Given the description of an element on the screen output the (x, y) to click on. 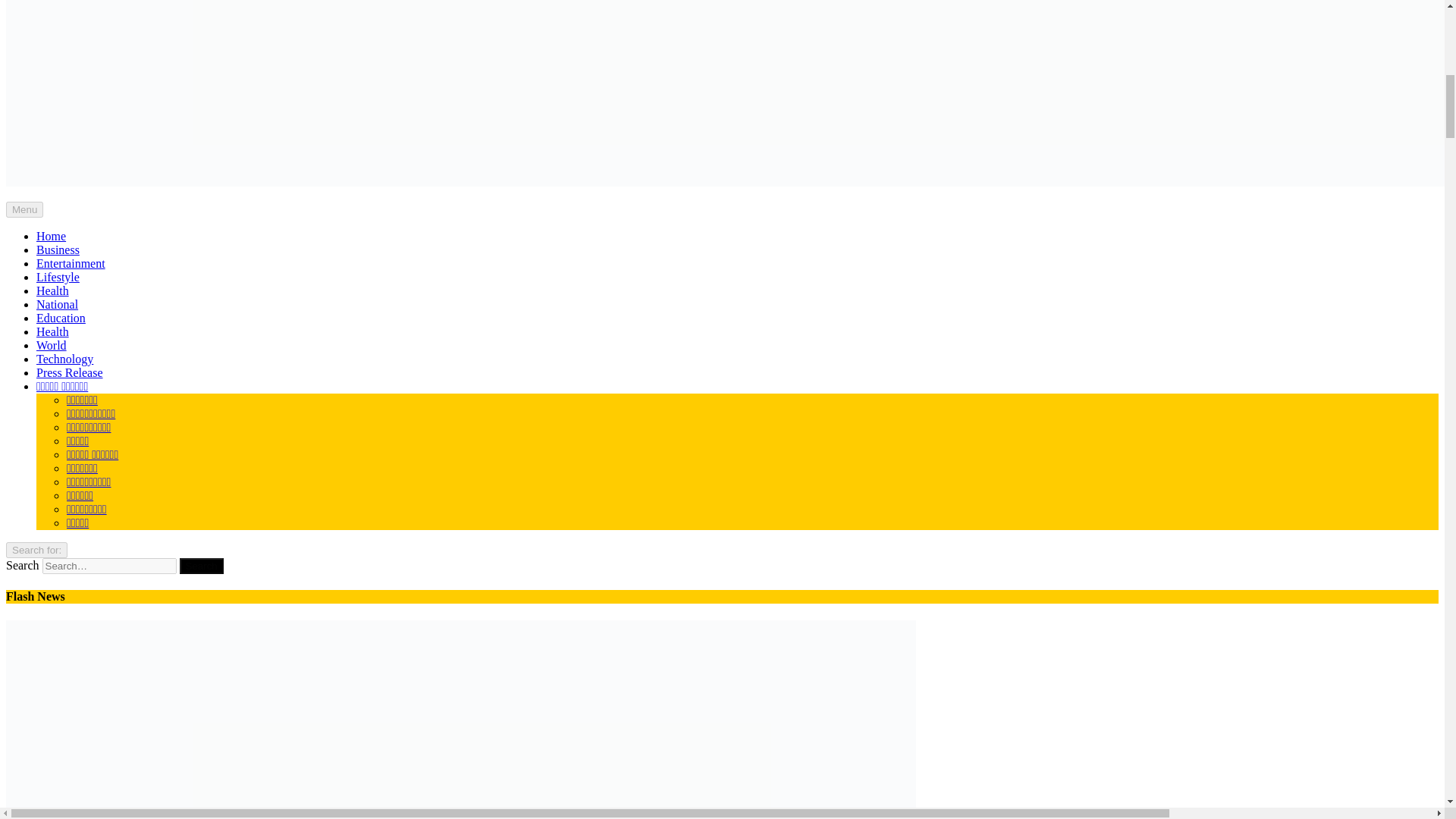
Health (52, 331)
Home (50, 236)
World (51, 345)
Entertainment (70, 263)
Technology (64, 358)
Lifestyle (58, 277)
National (57, 304)
Press Release (69, 372)
Education (60, 318)
Search (201, 565)
Business (58, 249)
Prakhar Jagran (41, 208)
Search (201, 565)
Menu (24, 209)
Health (52, 290)
